Given the description of an element on the screen output the (x, y) to click on. 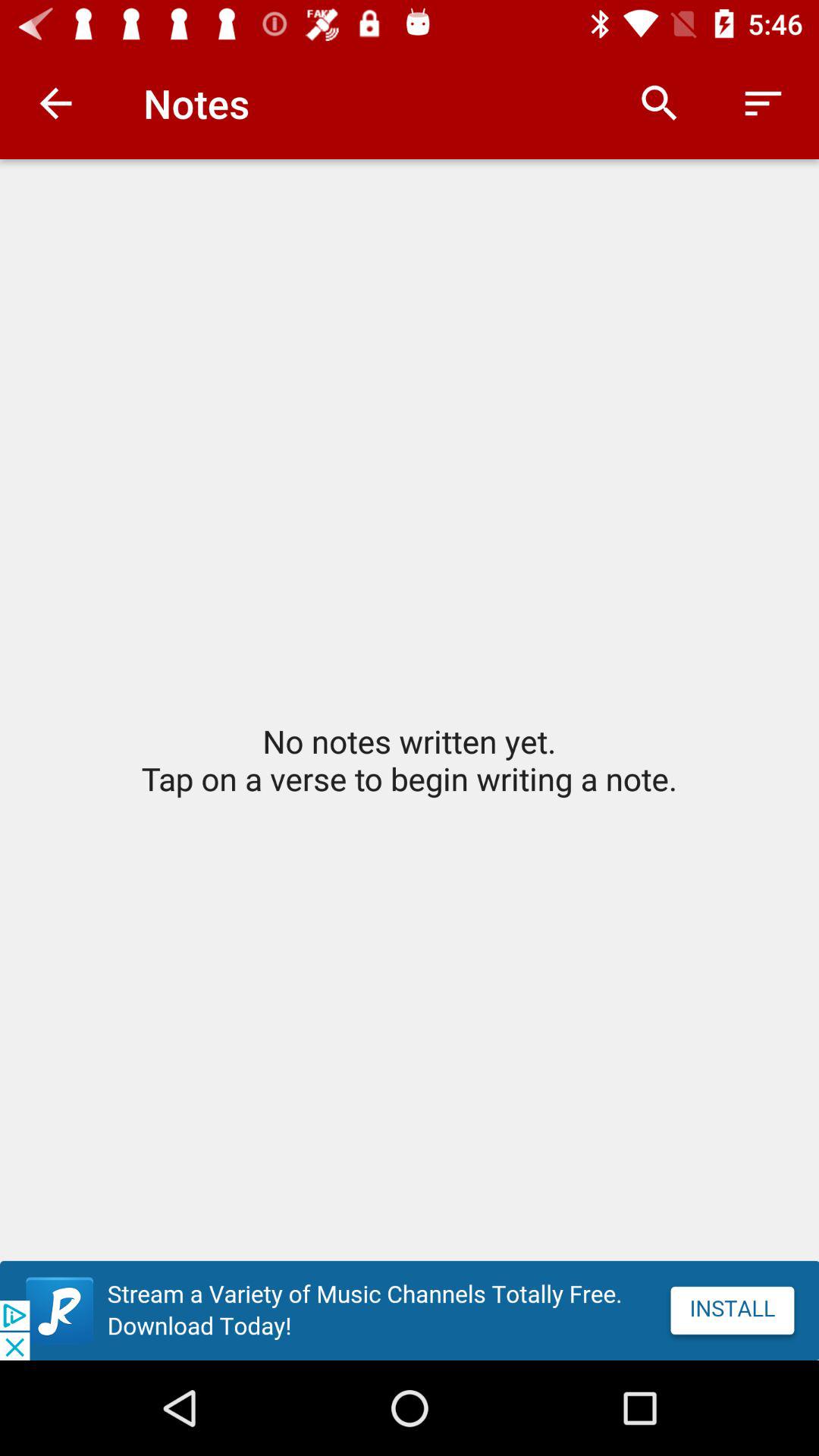
advatisment paga (409, 1310)
